Given the description of an element on the screen output the (x, y) to click on. 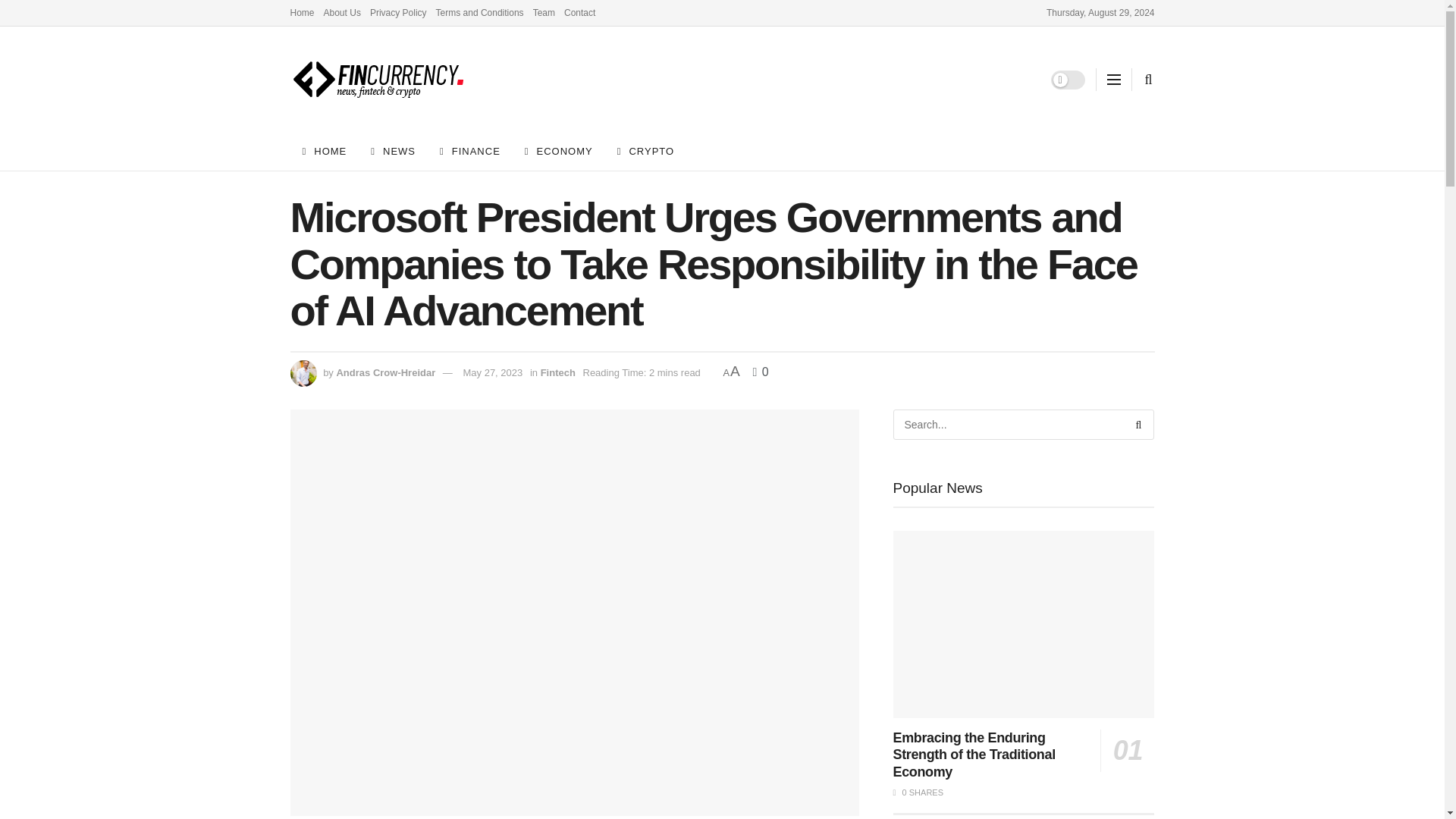
ECONOMY (558, 151)
NEWS (393, 151)
May 27, 2023 (492, 372)
Terms and Conditions (479, 12)
FINANCE (470, 151)
Privacy Policy (397, 12)
Fintech (557, 372)
Contact (579, 12)
CRYPTO (645, 151)
0 (760, 371)
